Given the description of an element on the screen output the (x, y) to click on. 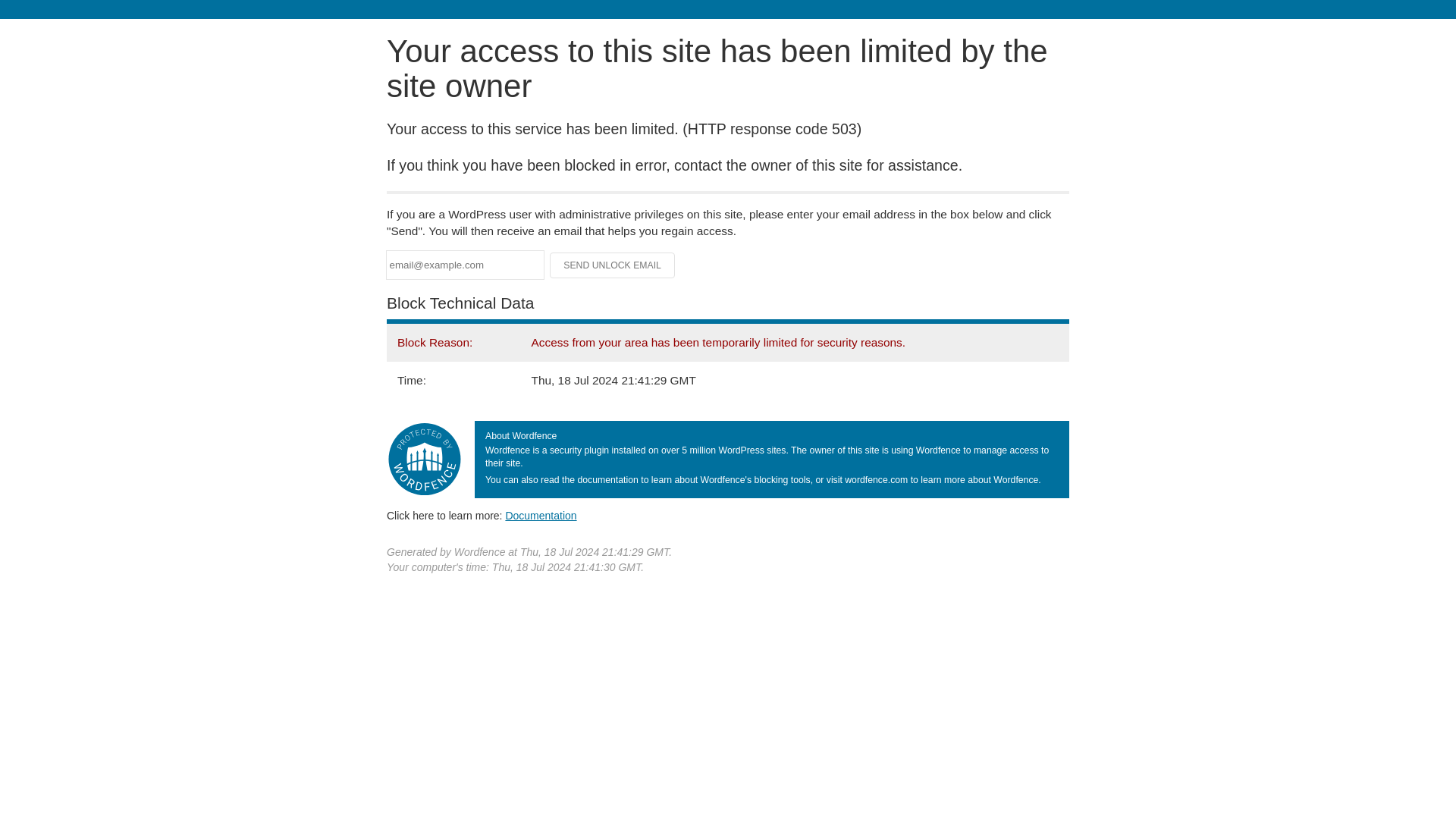
Send Unlock Email (612, 265)
Send Unlock Email (612, 265)
Documentation (540, 515)
